Given the description of an element on the screen output the (x, y) to click on. 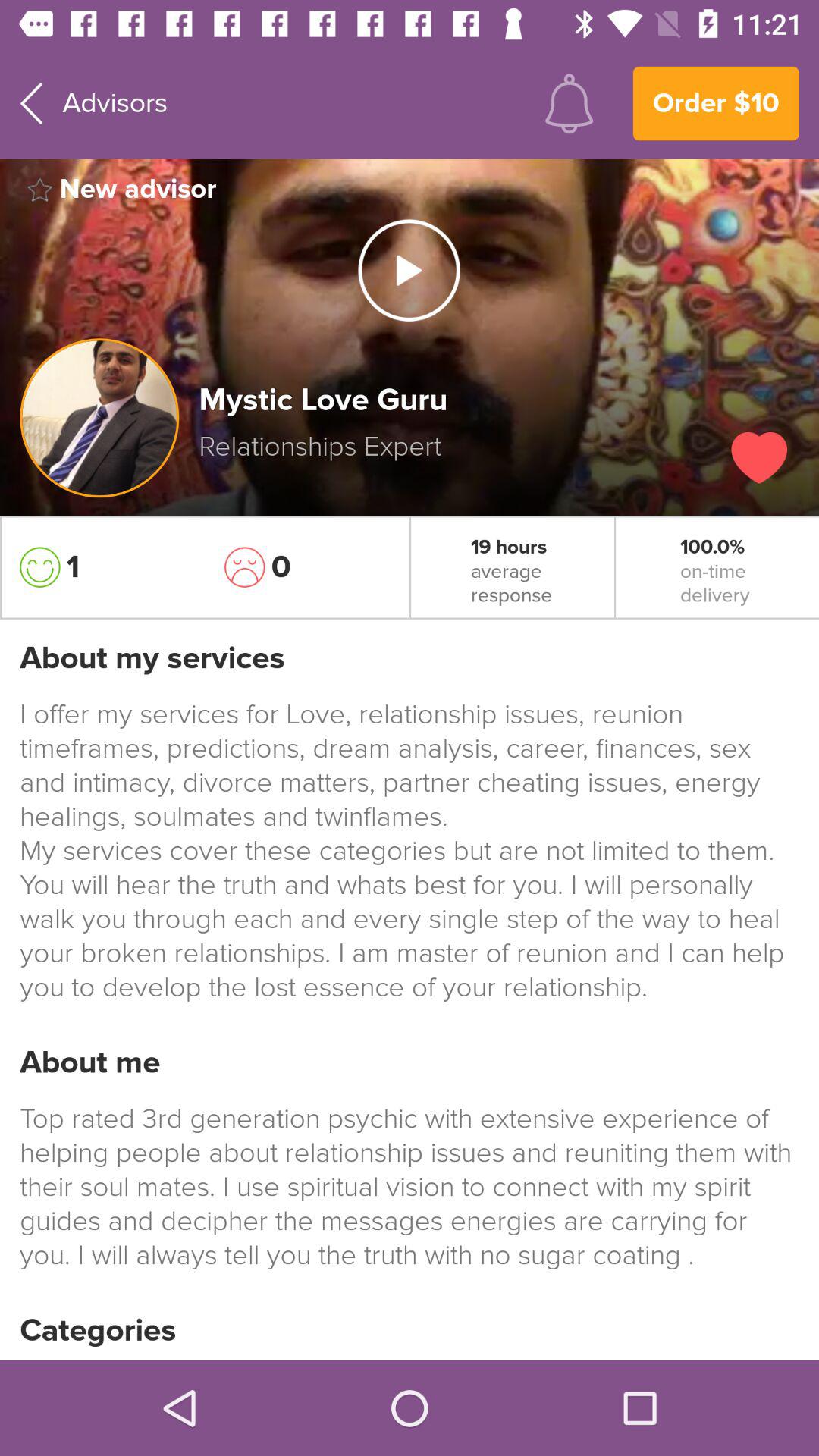
press the item to the right of the mystic love guru (759, 457)
